Given the description of an element on the screen output the (x, y) to click on. 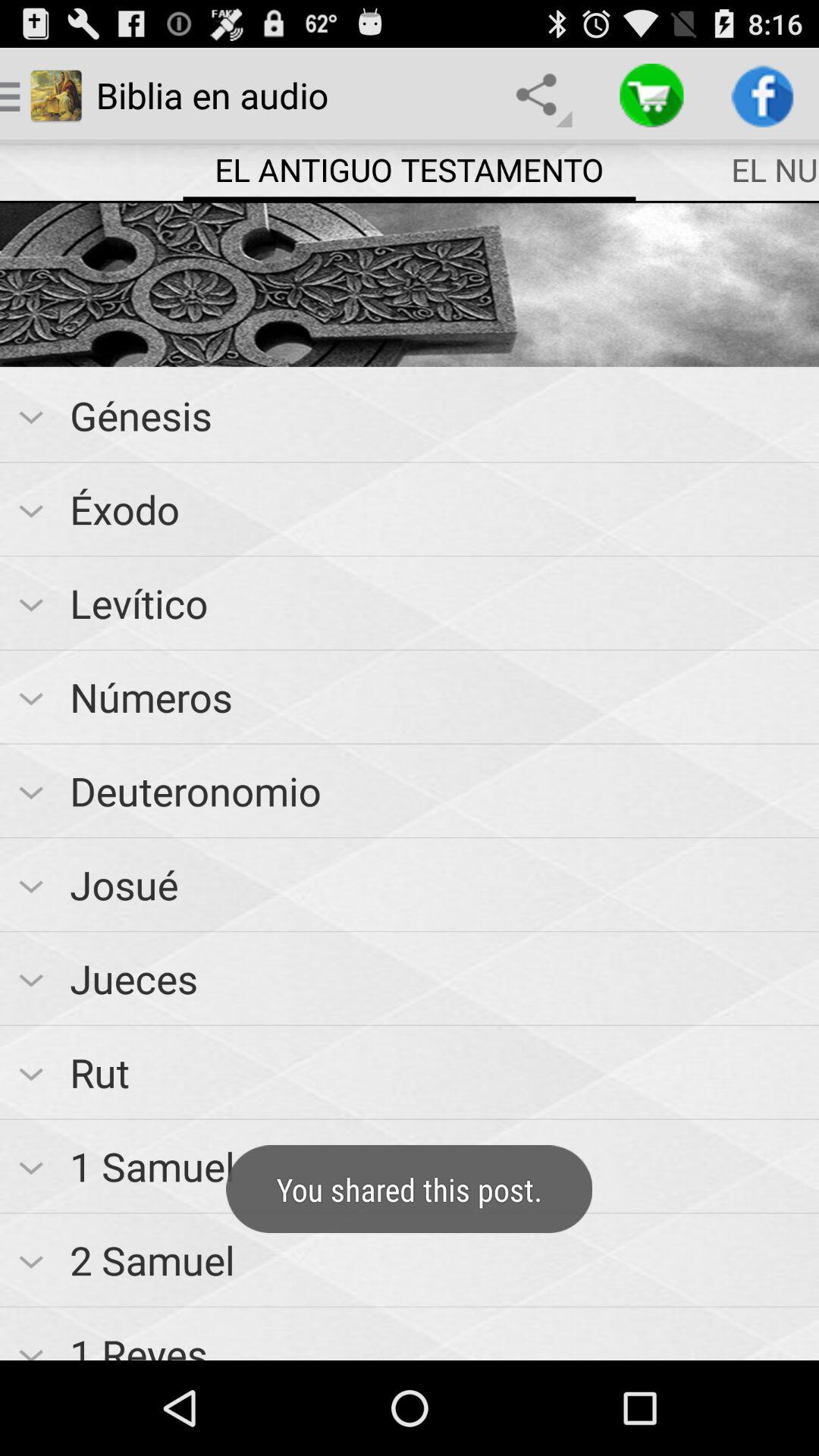
turn on item next to biblia en audio item (540, 95)
